Given the description of an element on the screen output the (x, y) to click on. 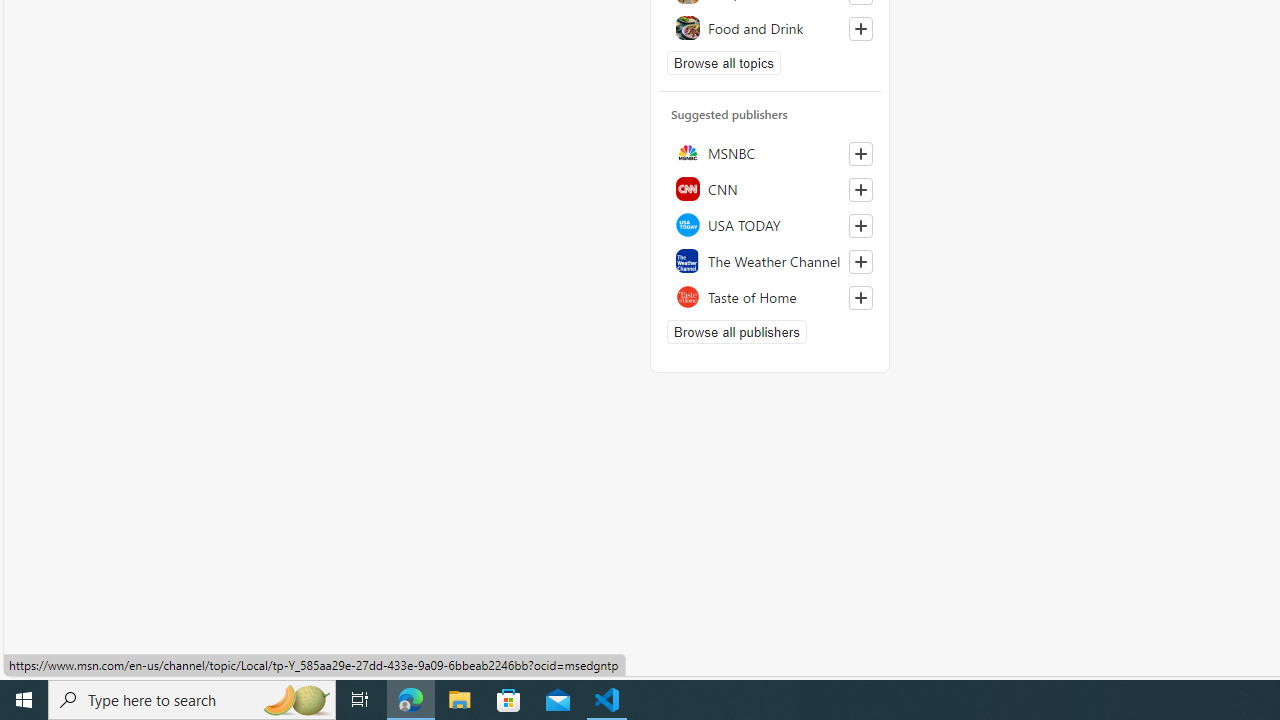
Food and Drink (770, 27)
Browse all publishers (736, 331)
MSNBC (770, 152)
USA TODAY (770, 224)
Taste of Home (770, 296)
Follow this source (860, 297)
Browse all topics (724, 62)
Follow this source (860, 297)
The Weather Channel (770, 260)
